Given the description of an element on the screen output the (x, y) to click on. 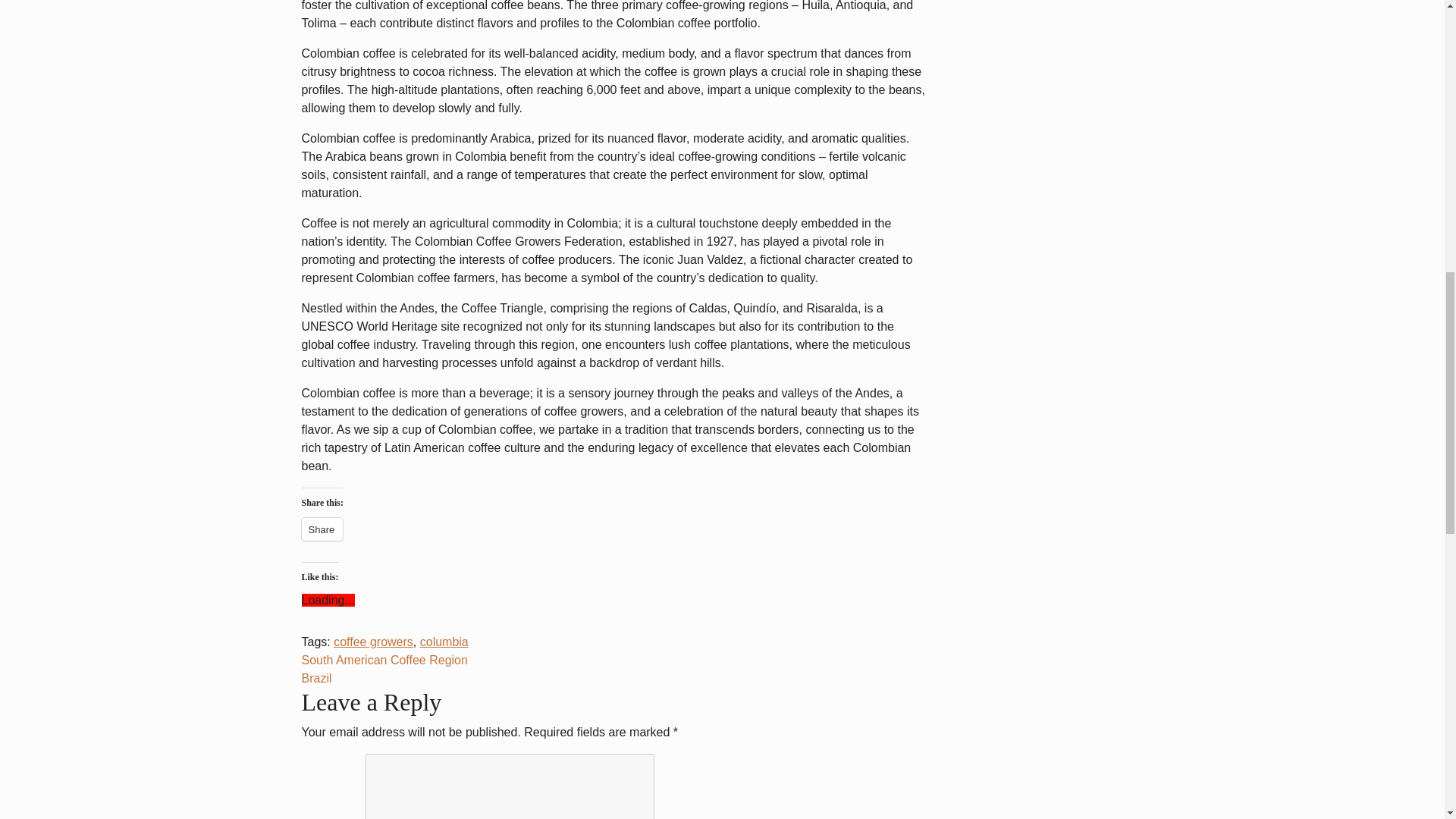
columbia (444, 641)
coffee growers (373, 641)
Brazil (316, 677)
Share (322, 528)
South American Coffee Region (384, 659)
